Given the description of an element on the screen output the (x, y) to click on. 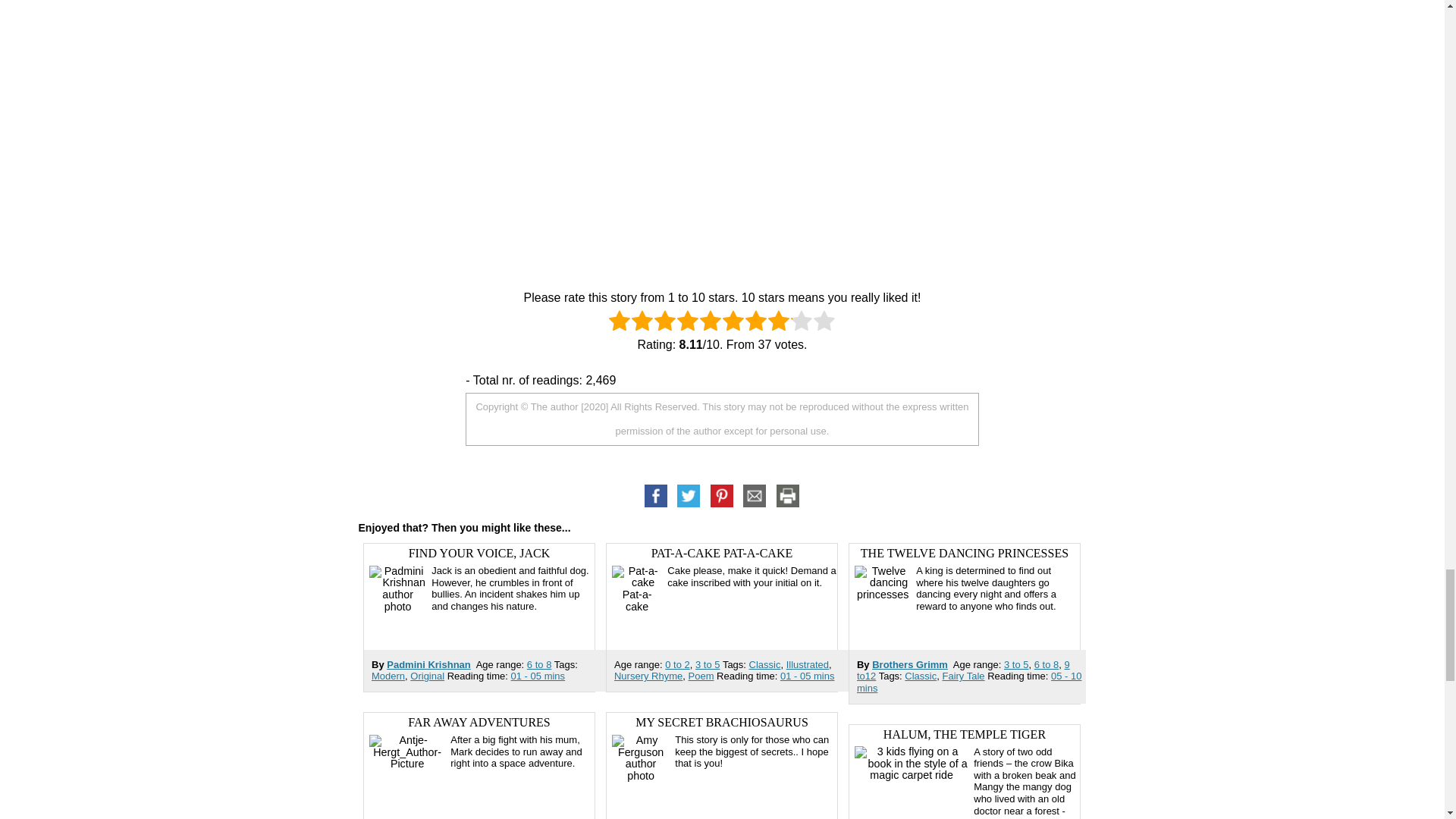
pinterest (722, 495)
email (754, 495)
facebook (656, 495)
twitter (688, 495)
